Given the description of an element on the screen output the (x, y) to click on. 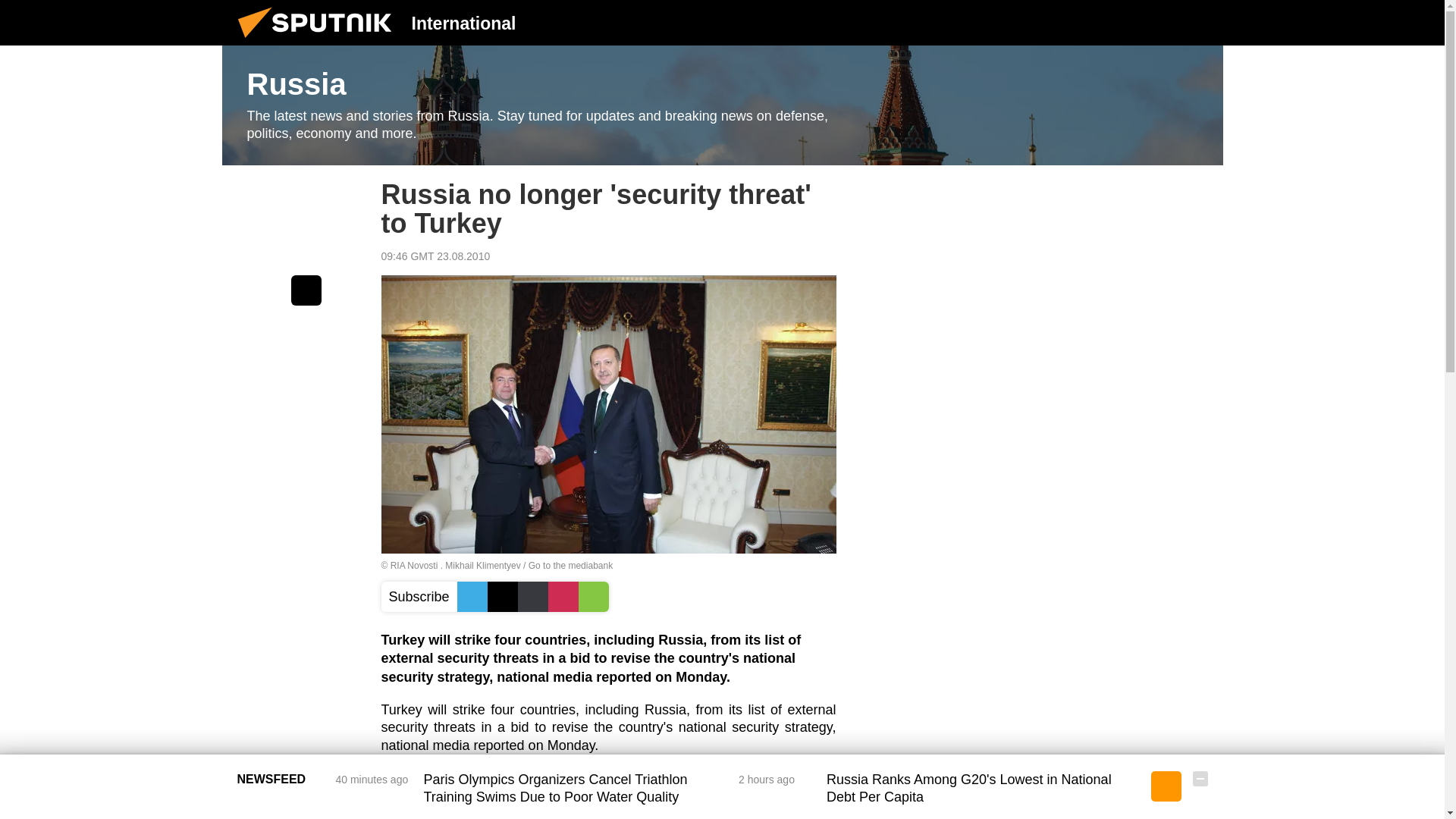
Russia (722, 105)
Authorization (1123, 22)
Chats (1199, 22)
Sputnik International (319, 41)
